Given the description of an element on the screen output the (x, y) to click on. 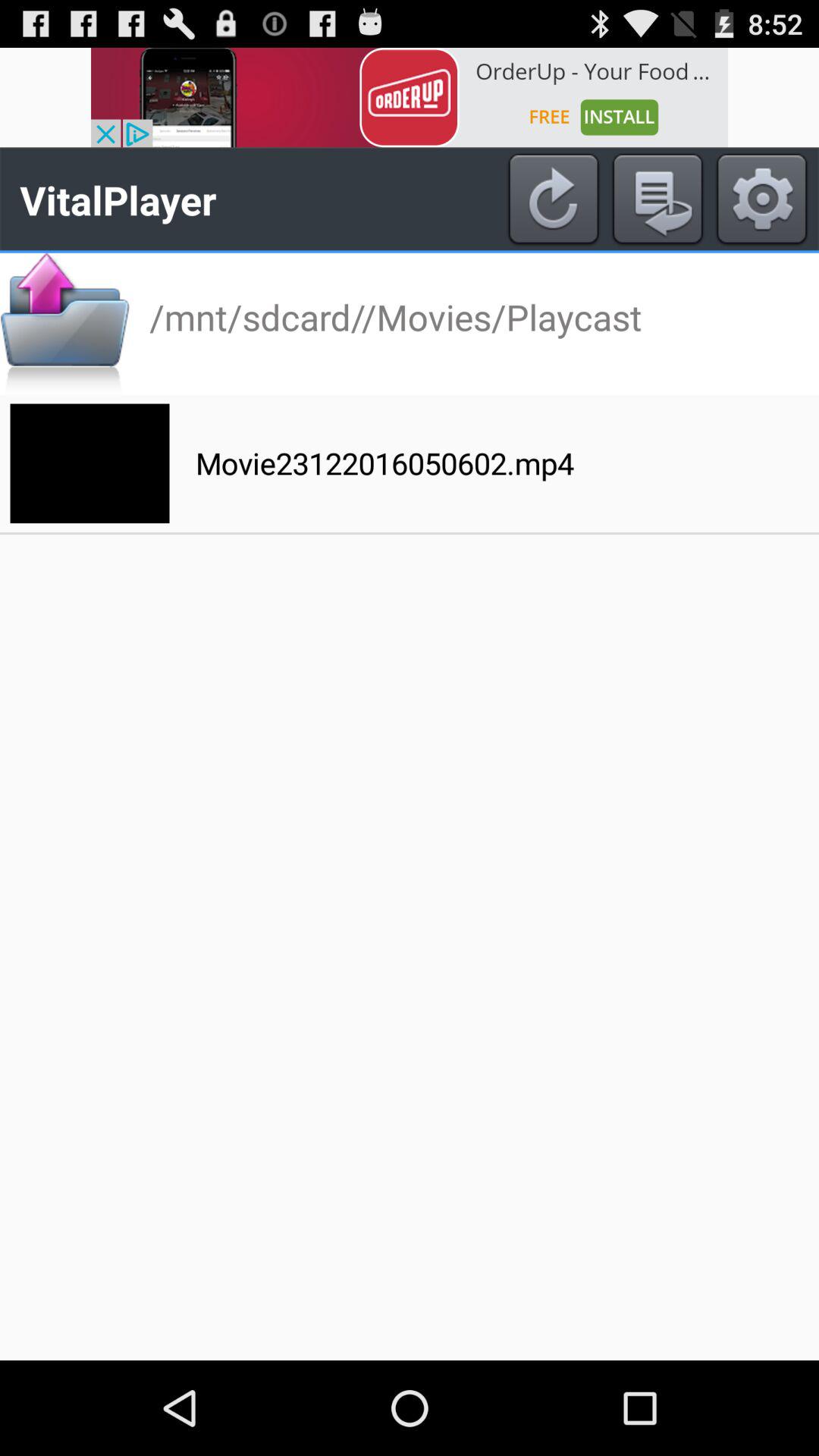
go back (657, 199)
